Given the description of an element on the screen output the (x, y) to click on. 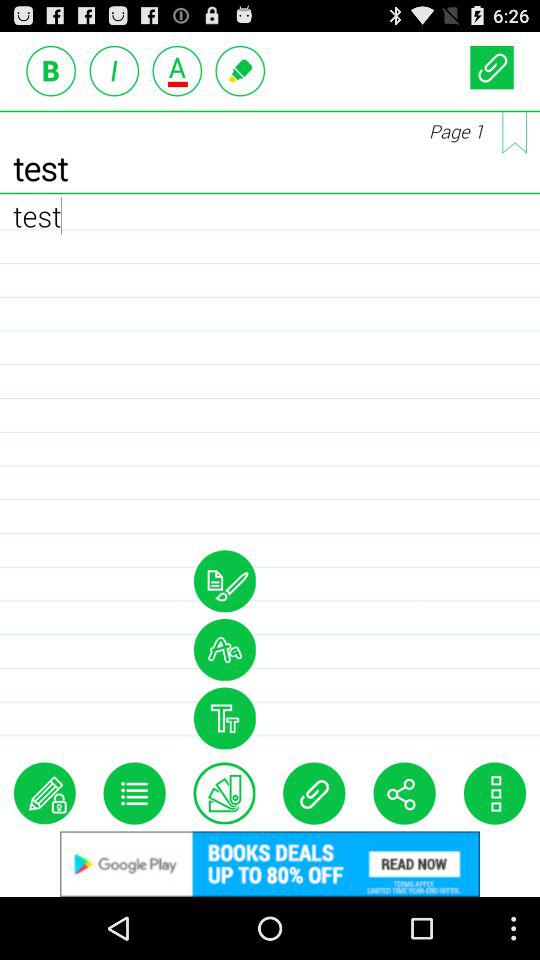
use the icon font (224, 718)
